Given the description of an element on the screen output the (x, y) to click on. 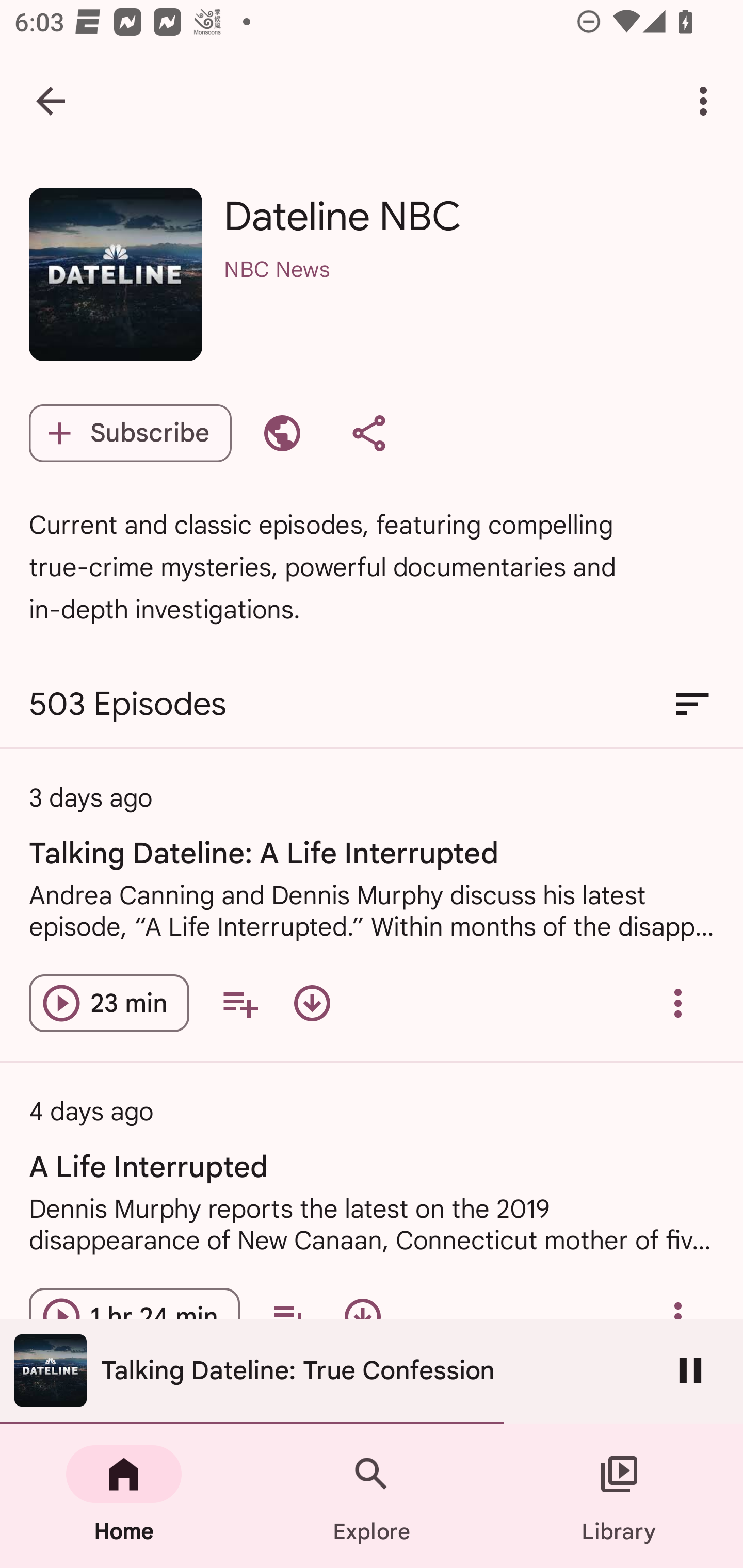
Navigate up (50, 101)
More options (706, 101)
NBC News (468, 295)
Subscribe (129, 433)
Visit website (282, 433)
Share (368, 433)
Sort (692, 703)
Add to your queue (239, 1002)
Download episode (312, 1002)
Overflow menu (677, 1002)
Pause (690, 1370)
Explore (371, 1495)
Library (619, 1495)
